Given the description of an element on the screen output the (x, y) to click on. 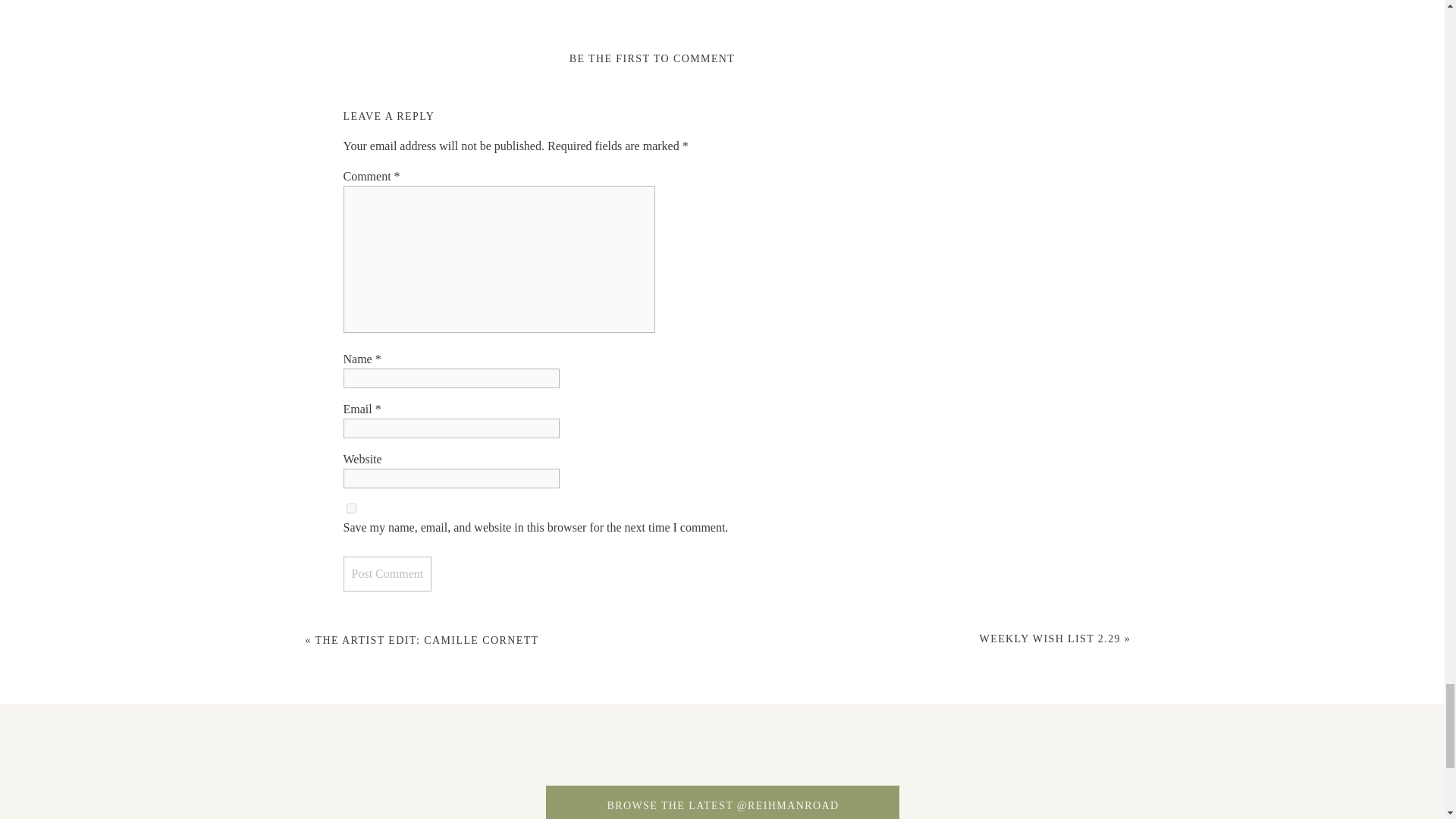
builtins (308, 761)
image5 (928, 761)
dahlia 2 (722, 761)
Post Comment (386, 573)
abstract art (101, 761)
maple branch (1135, 761)
yes (350, 508)
cane treasure boxes (515, 761)
